Given the description of an element on the screen output the (x, y) to click on. 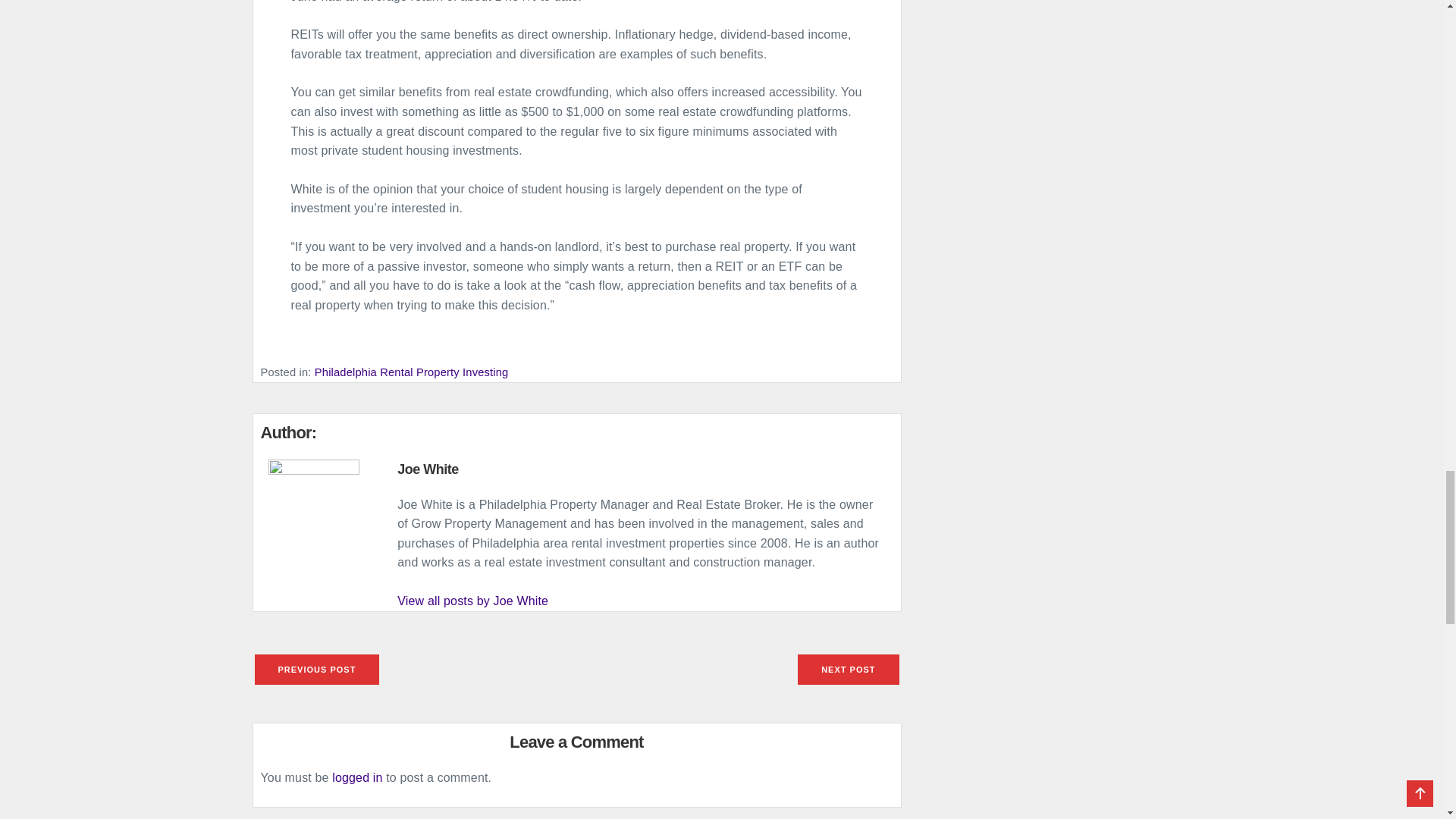
NEXT POST (847, 667)
logged in (356, 777)
View all posts by Joe White (472, 600)
Philadelphia Rental Property Investing (411, 372)
PREVIOUS POST (317, 667)
